Given the description of an element on the screen output the (x, y) to click on. 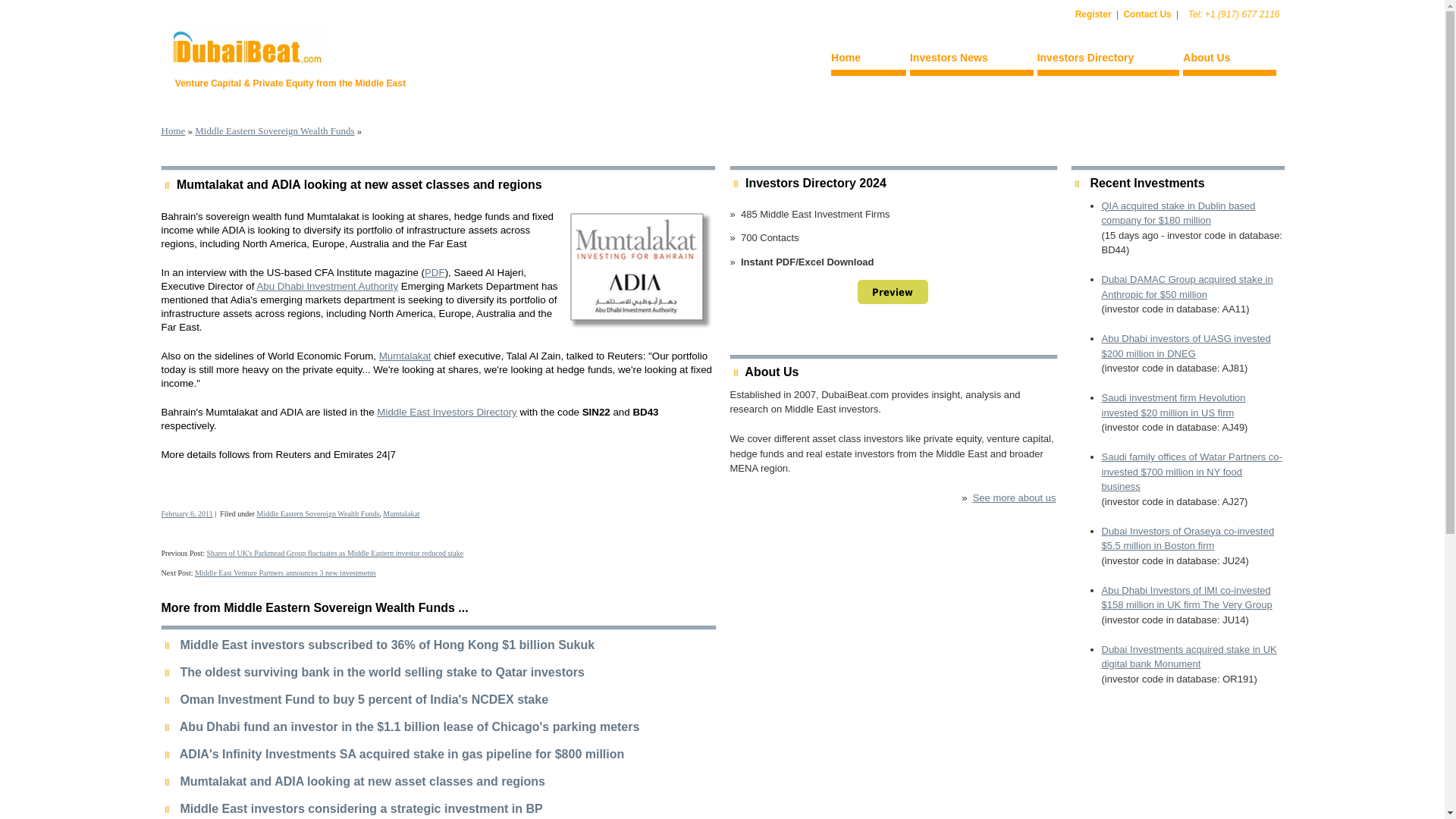
Investors News (971, 60)
Mumtalakat (404, 355)
About Us (1228, 60)
Middle East Investors Directory (446, 411)
Register (1094, 14)
Mumtalakat and ADIA looking at new asset classes and regions (358, 184)
Contact Us (1146, 14)
PDF (435, 272)
Home (868, 60)
Investors Directory (1107, 60)
